Given the description of an element on the screen output the (x, y) to click on. 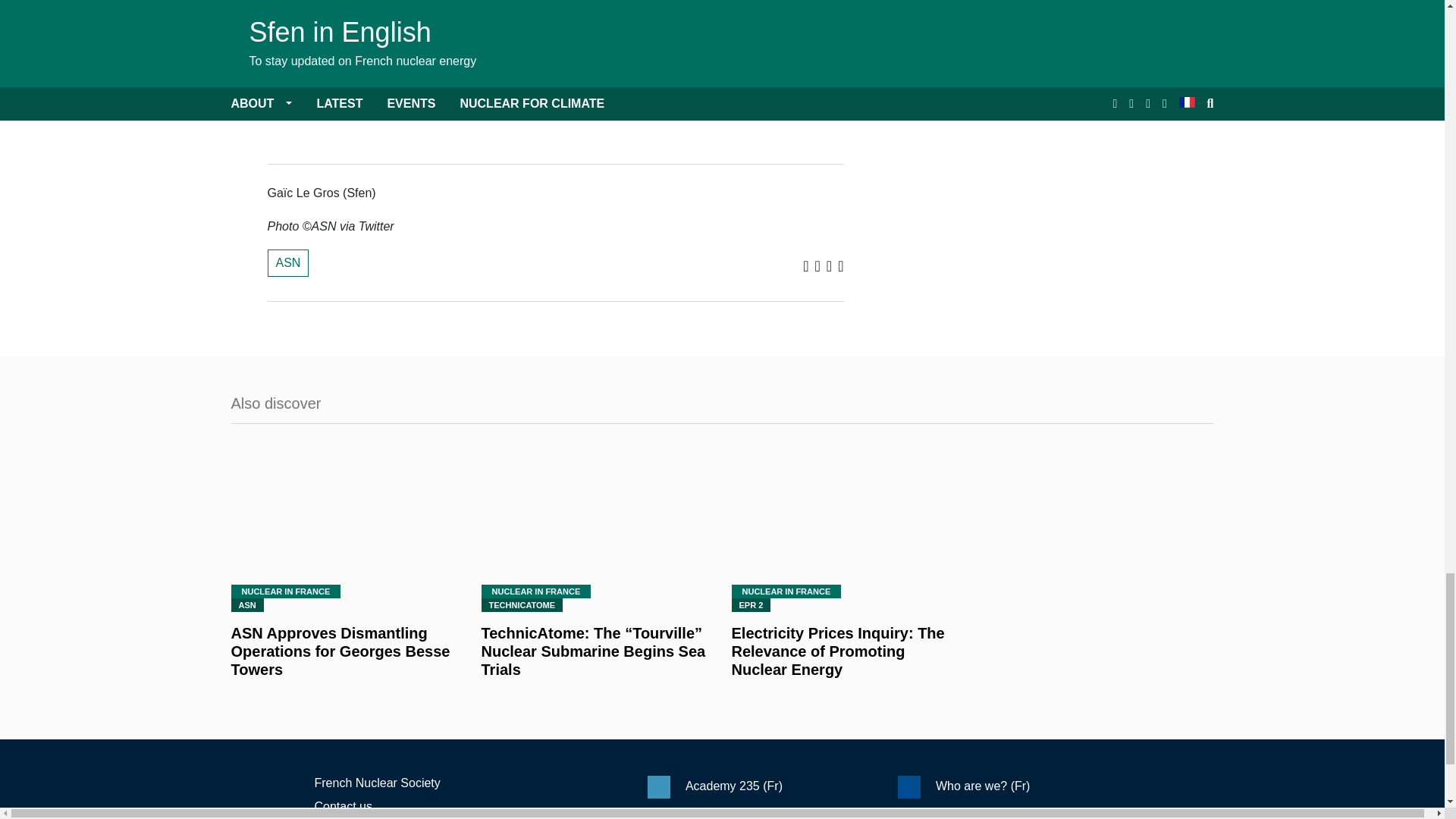
ASN Approves Dismantling Operations for Georges Besse Towers (346, 651)
Contact us (342, 806)
ASN (287, 262)
